Given the description of an element on the screen output the (x, y) to click on. 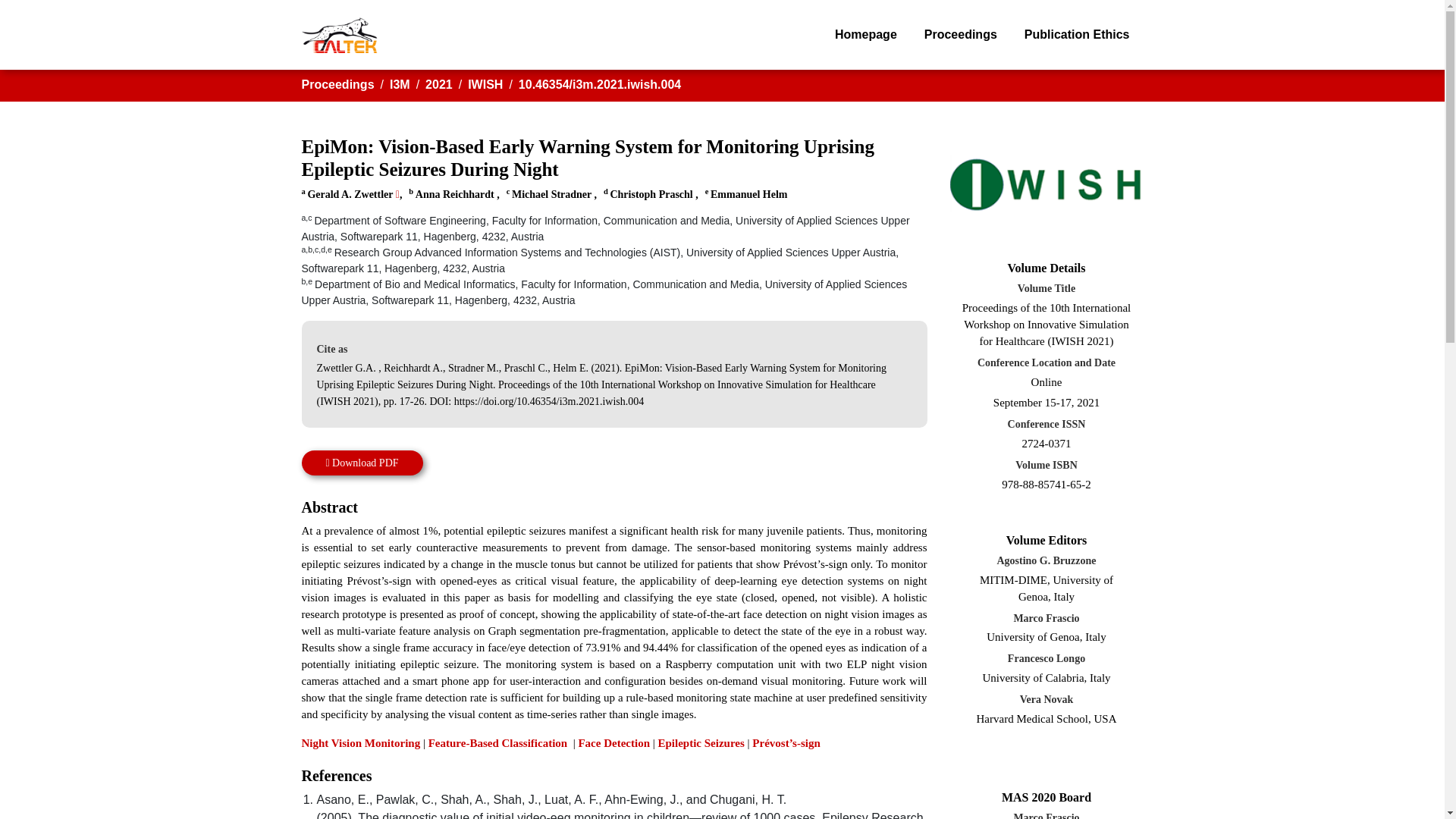
2021 (438, 83)
Homepage (866, 34)
Proceedings (337, 83)
 Download PDF (362, 462)
IWISH (484, 83)
Night Vision Monitoring (360, 743)
I3M (400, 83)
Proceedings (960, 34)
Publication Ethics (1076, 34)
Feature-Based Classification  (499, 743)
Epileptic Seizures (701, 743)
Face Detection (613, 743)
